Given the description of an element on the screen output the (x, y) to click on. 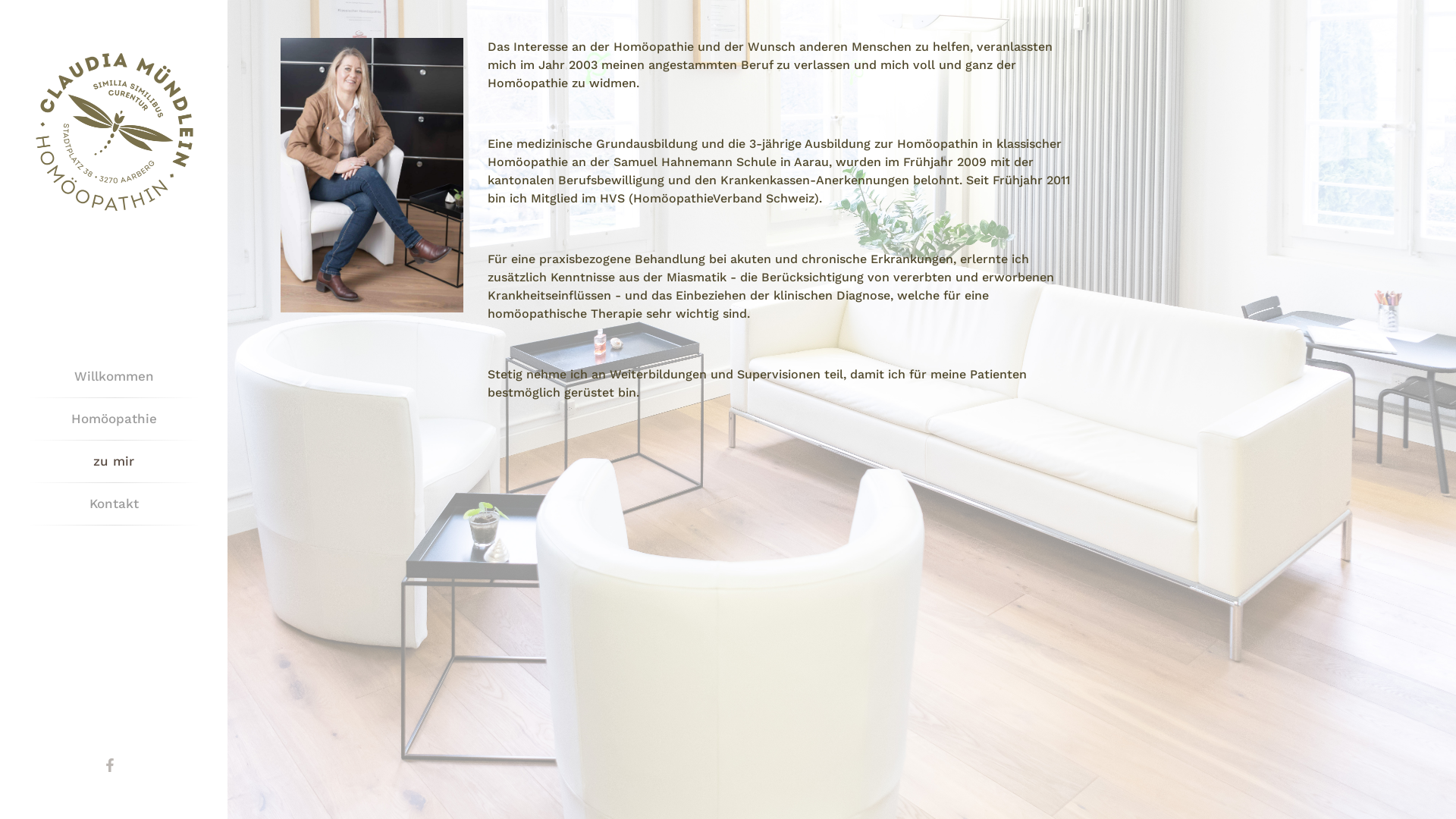
Willkommen Element type: text (113, 376)
zu mir Element type: text (113, 461)
Kontakt Element type: text (113, 503)
